Given the description of an element on the screen output the (x, y) to click on. 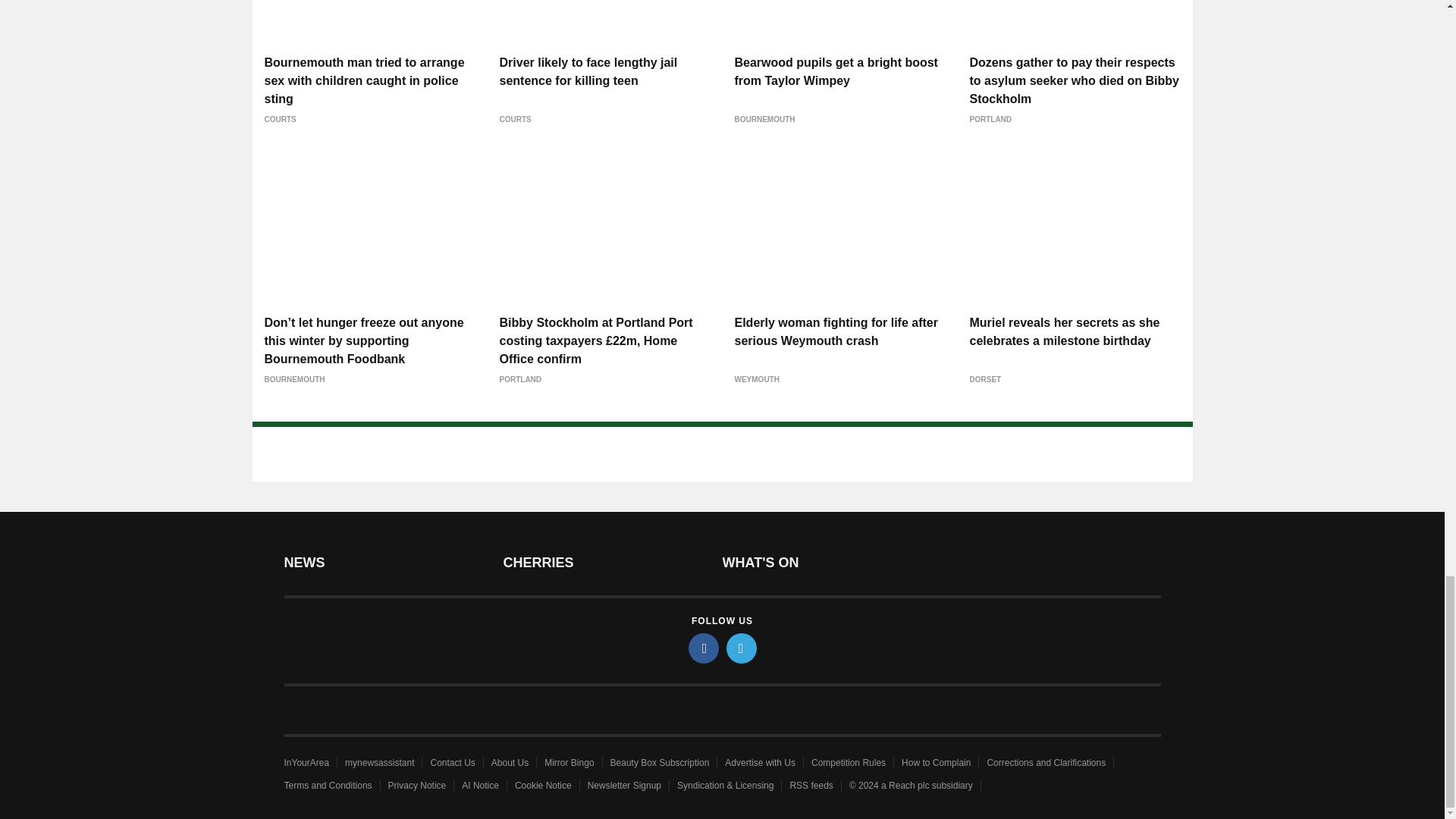
twitter (741, 648)
facebook (703, 648)
